Given the description of an element on the screen output the (x, y) to click on. 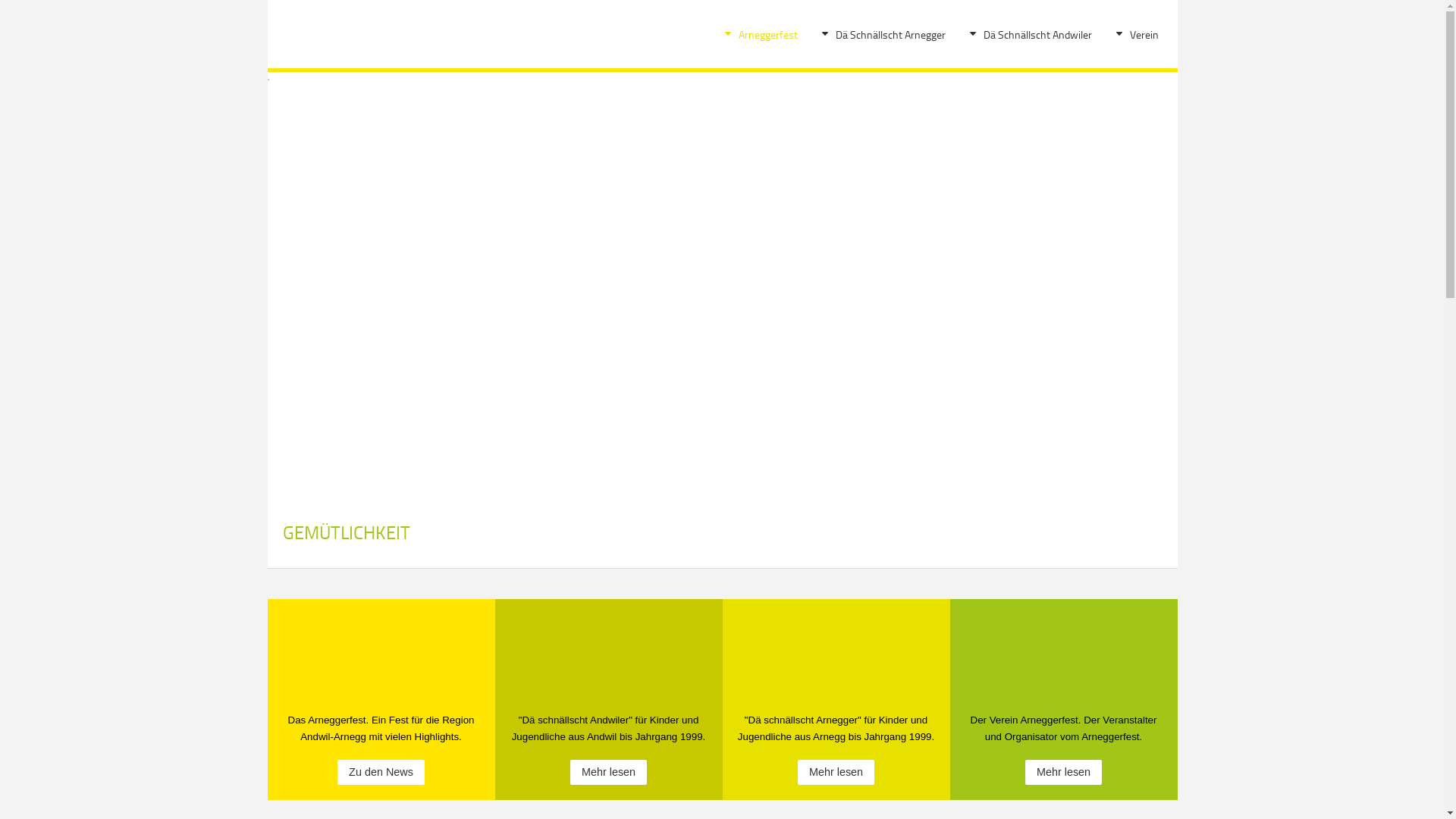
Mehr lesen Element type: text (835, 771)
Verein Element type: text (1143, 34)
previous Element type: hover (293, 268)
next Element type: hover (1149, 268)
Arneggerfest Element type: text (766, 34)
Zu den News Element type: text (380, 771)
Mehr lesen Element type: text (608, 771)
Mehr lesen Element type: text (1063, 771)
